Given the description of an element on the screen output the (x, y) to click on. 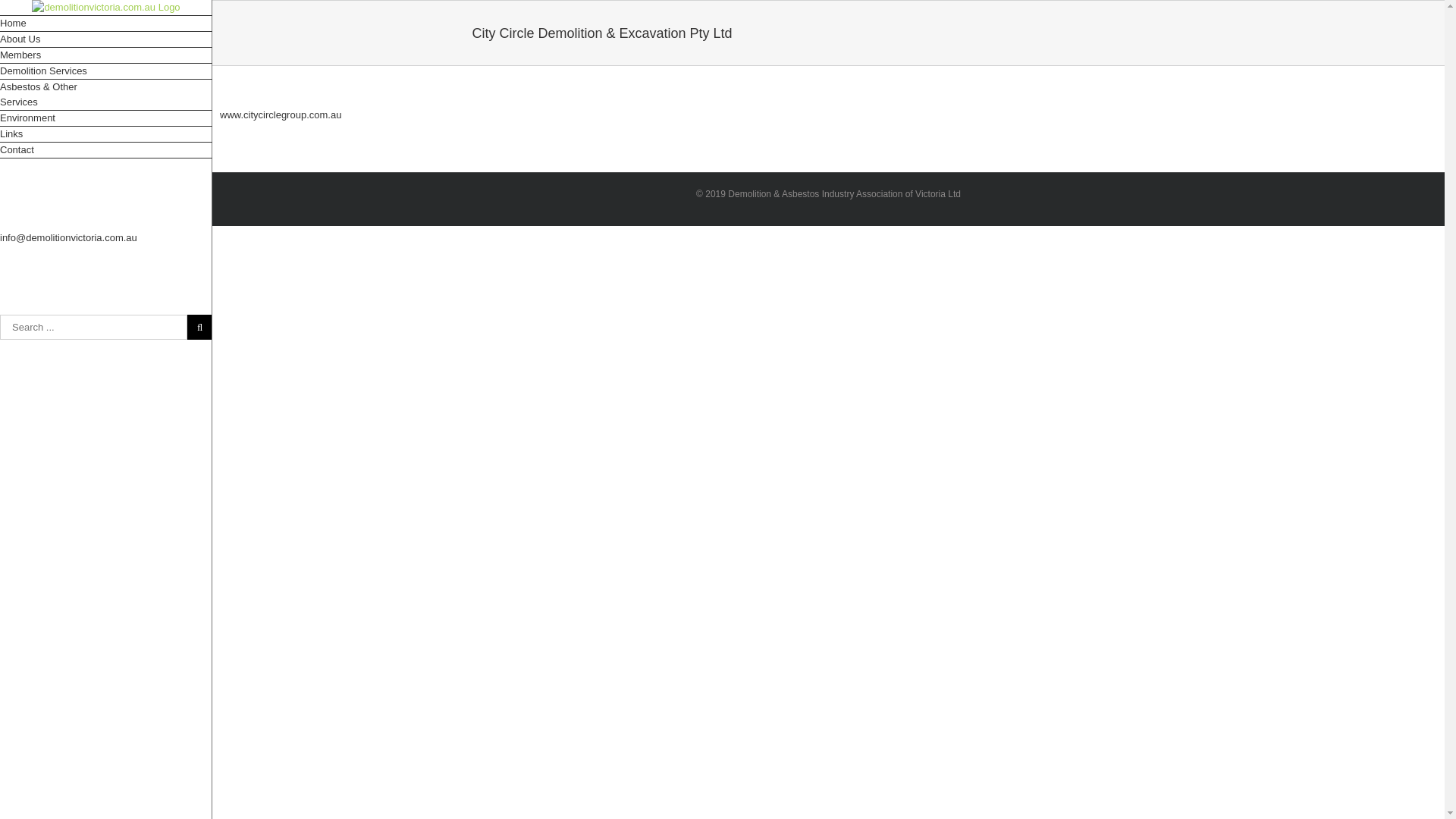
Home Element type: text (106, 23)
About Us Element type: text (106, 39)
Asbestos & Other
Services Element type: text (106, 94)
Contact Element type: text (106, 150)
Members Element type: text (106, 55)
Demolition Services Element type: text (106, 71)
Environment Element type: text (106, 118)
www.citycirclegroup.com.au Element type: text (280, 114)
info@demolitionvictoria.com.au Element type: text (68, 237)
Links Element type: text (106, 134)
